Given the description of an element on the screen output the (x, y) to click on. 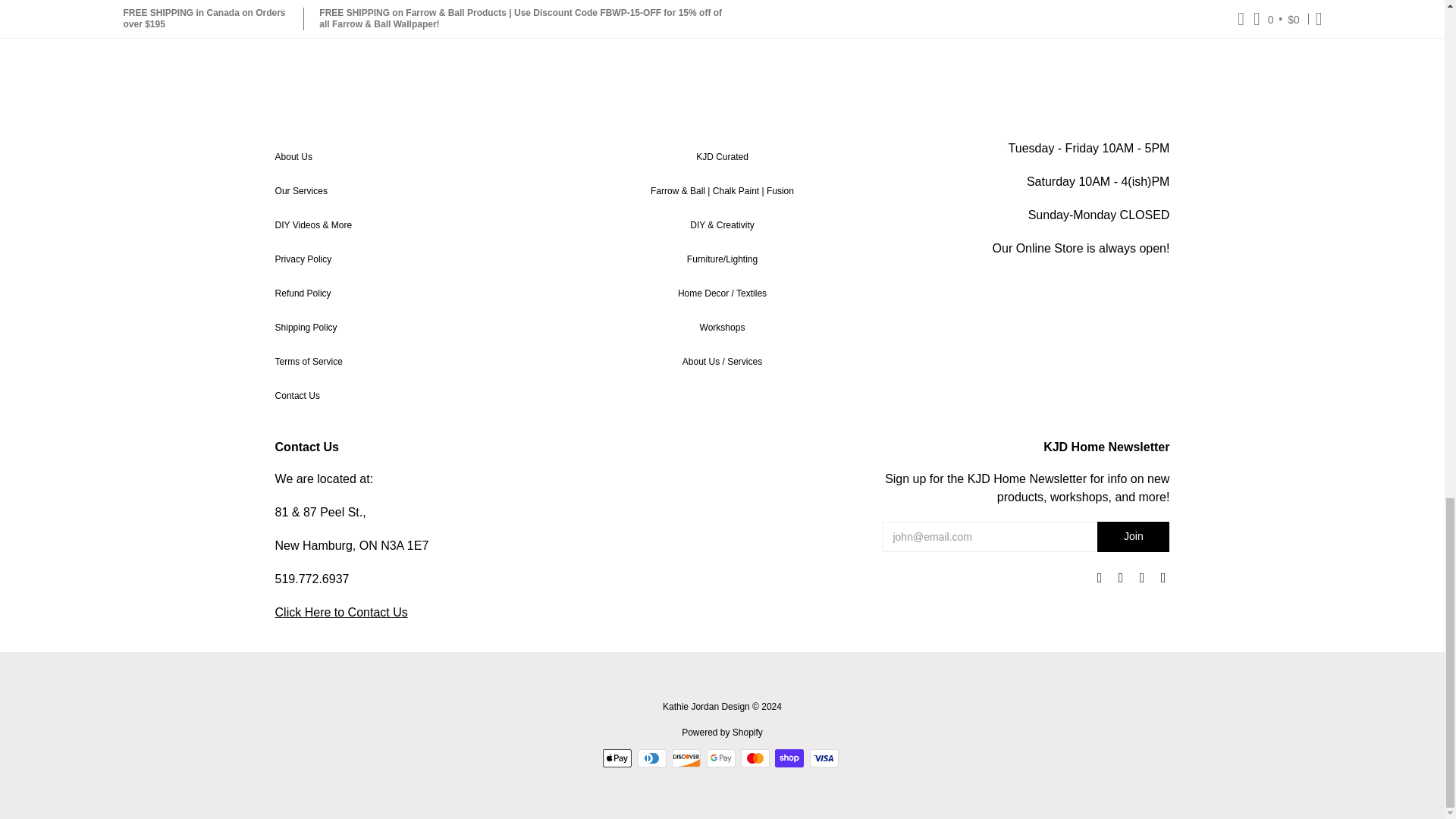
Google Pay (720, 758)
Apple Pay (616, 758)
Join (1133, 536)
Discover (685, 758)
Mastercard (755, 758)
Diners Club (651, 758)
Visa (823, 758)
Shop Pay (788, 758)
